Given the description of an element on the screen output the (x, y) to click on. 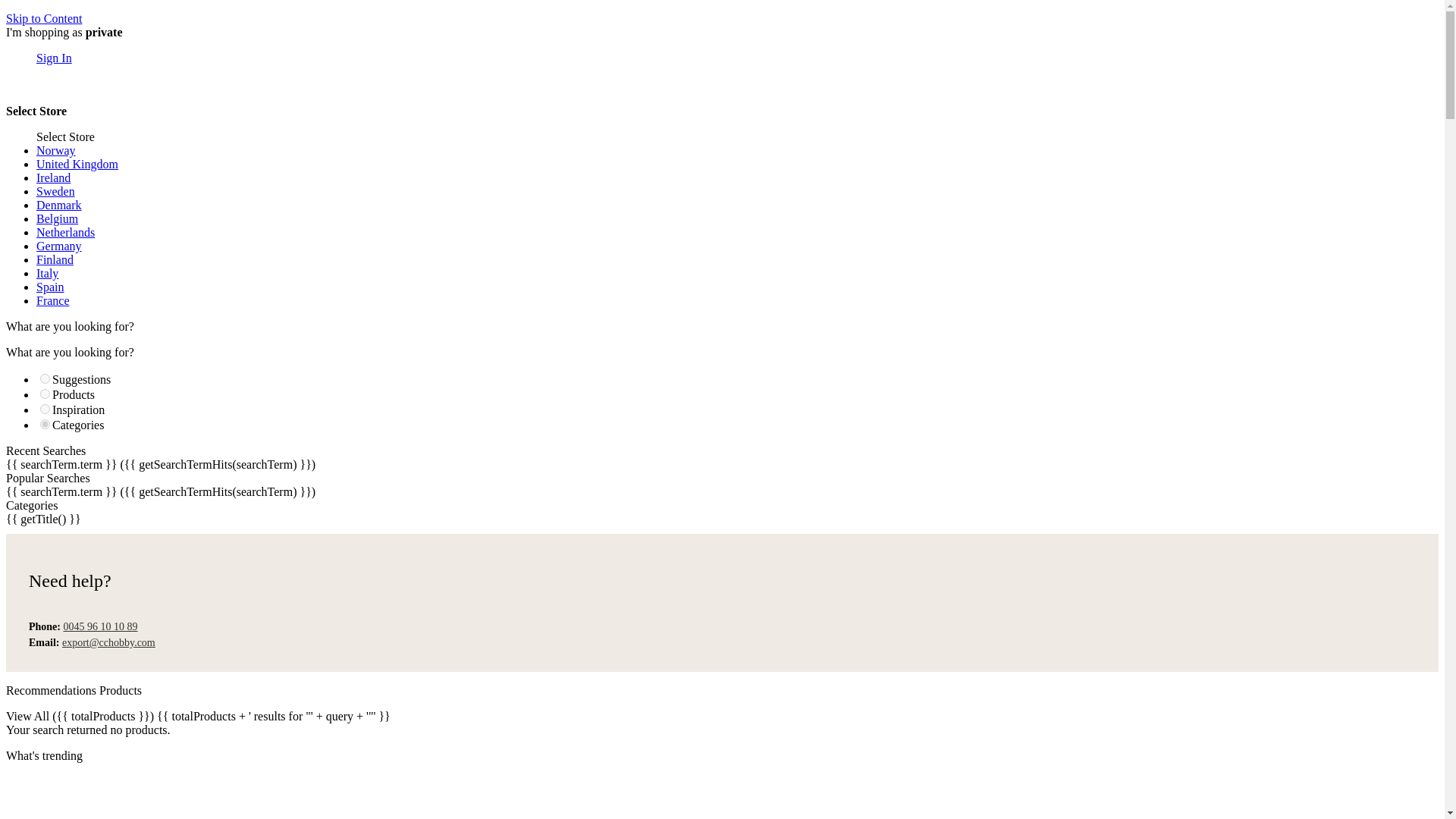
Sign In (53, 57)
0045 96 10 10 89 (101, 626)
categories (44, 424)
Skip to Content (43, 18)
suggestions (44, 378)
inspiration (44, 409)
products (44, 393)
